Given the description of an element on the screen output the (x, y) to click on. 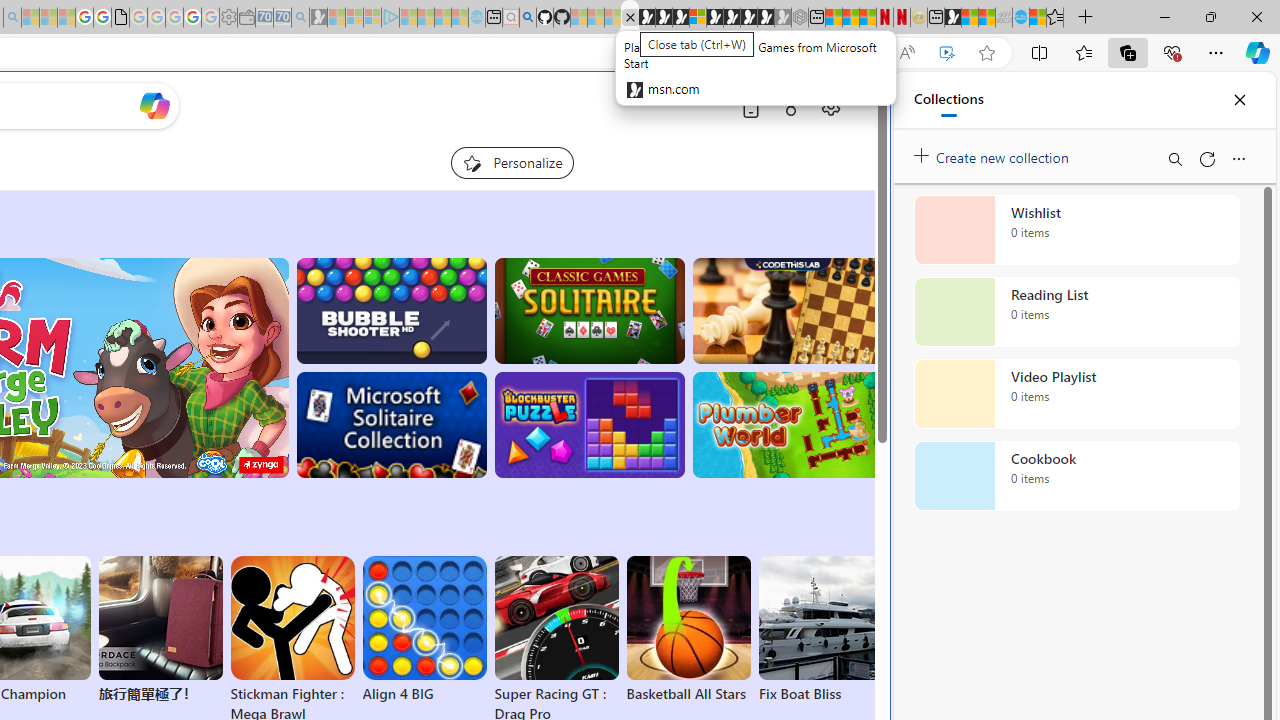
More options menu (1238, 158)
Services - Maintenance | Sky Blue Bikes - Sky Blue Bikes (1020, 17)
BlockBuster: Adventures Puzzle (589, 425)
App available. Install Games from Microsoft Start (867, 53)
Tabs you've opened (276, 265)
